Given the description of an element on the screen output the (x, y) to click on. 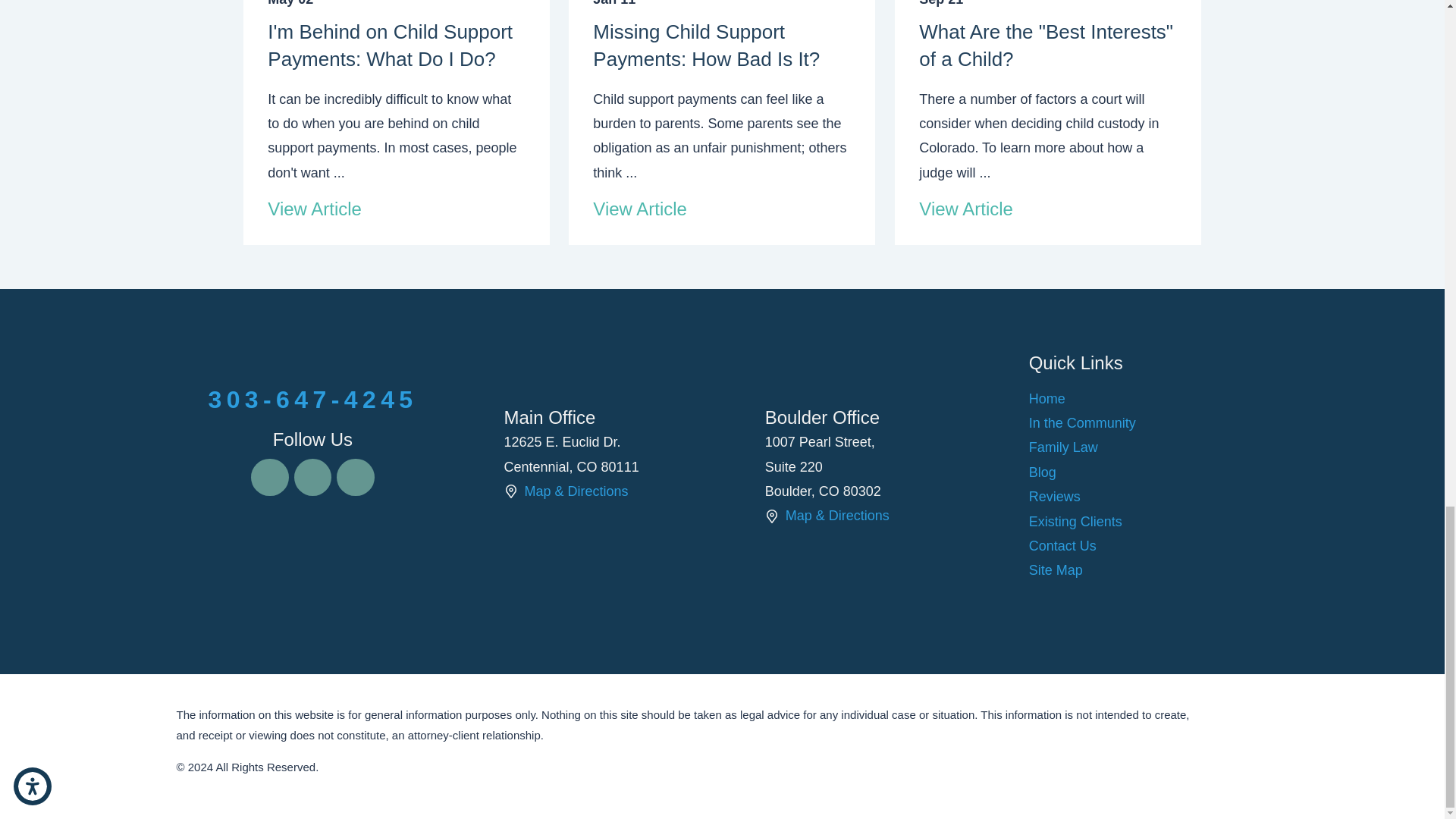
Site Icon (771, 516)
Facebook (269, 477)
Site Icon (509, 490)
LinkedIn (355, 477)
Twitter (312, 477)
